Given the description of an element on the screen output the (x, y) to click on. 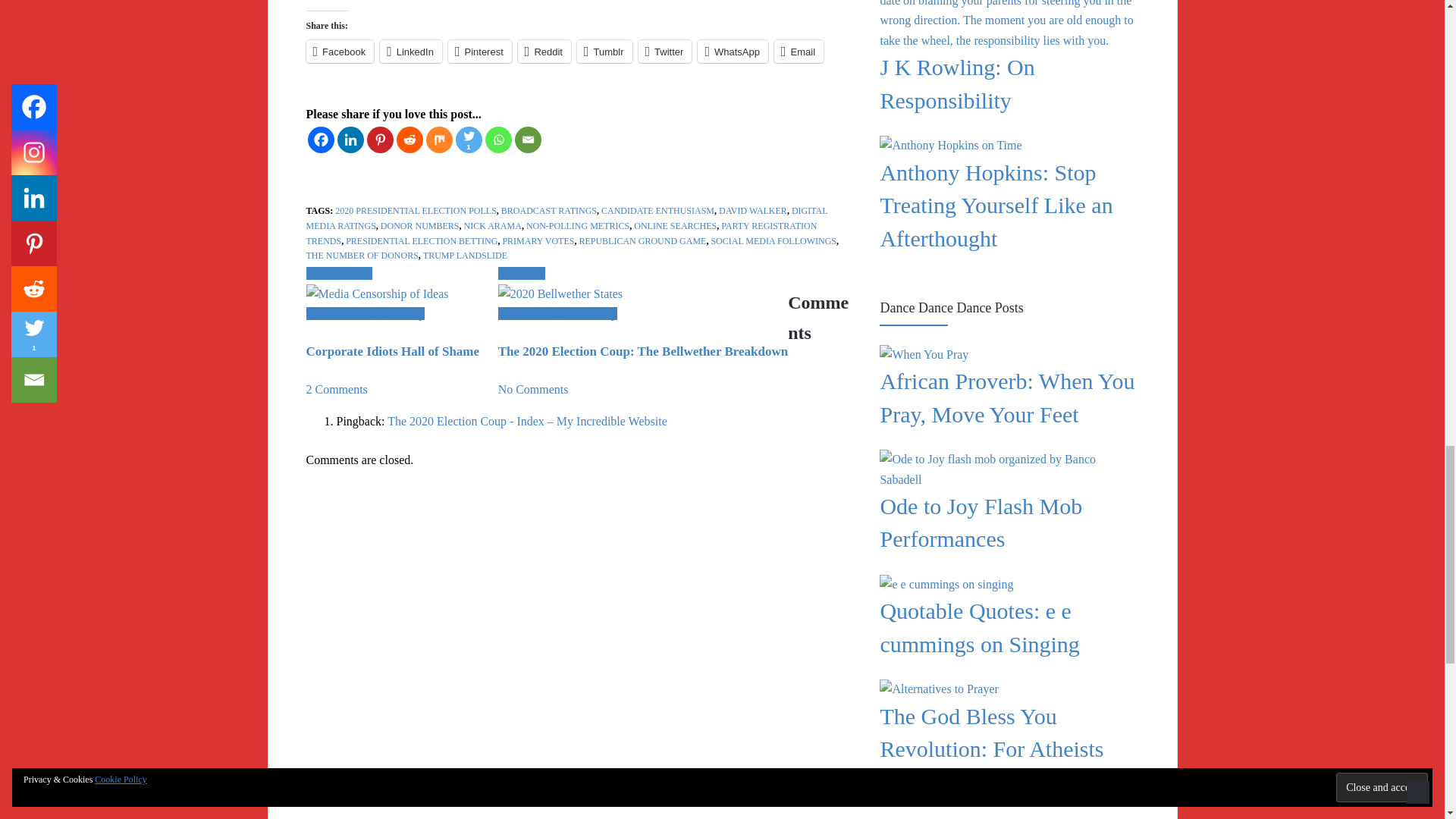
Click to share on Reddit (544, 51)
Click to share on Facebook (339, 51)
Click to share on Tumblr (603, 51)
Click to share on LinkedIn (411, 51)
Click to share on Twitter (666, 51)
Click to share on Pinterest (480, 51)
